Given the description of an element on the screen output the (x, y) to click on. 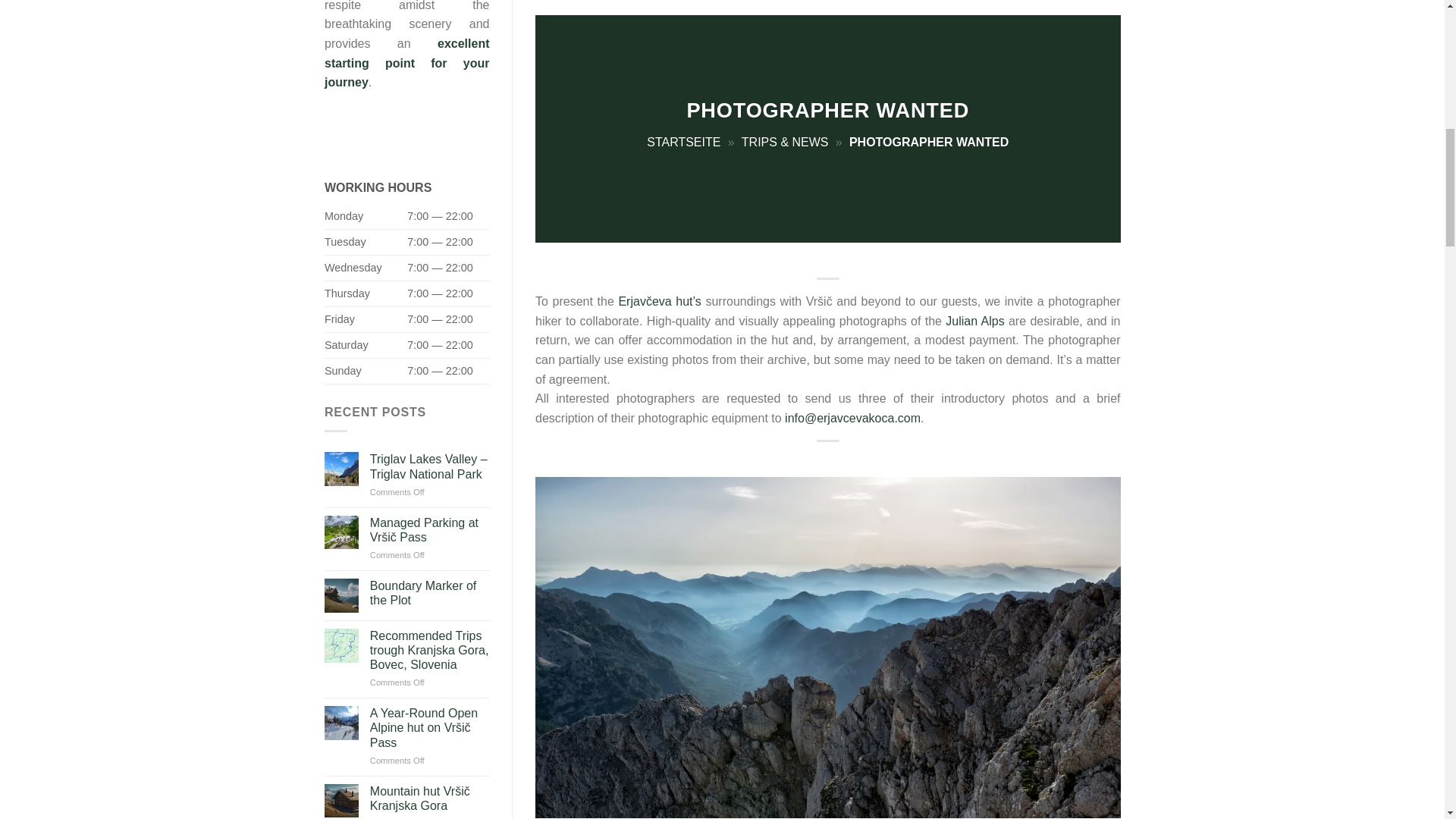
Boundary Marker of the Plot (429, 592)
Recommended Trips trough Kranjska Gora, Bovec, Slovenia (429, 650)
